Given the description of an element on the screen output the (x, y) to click on. 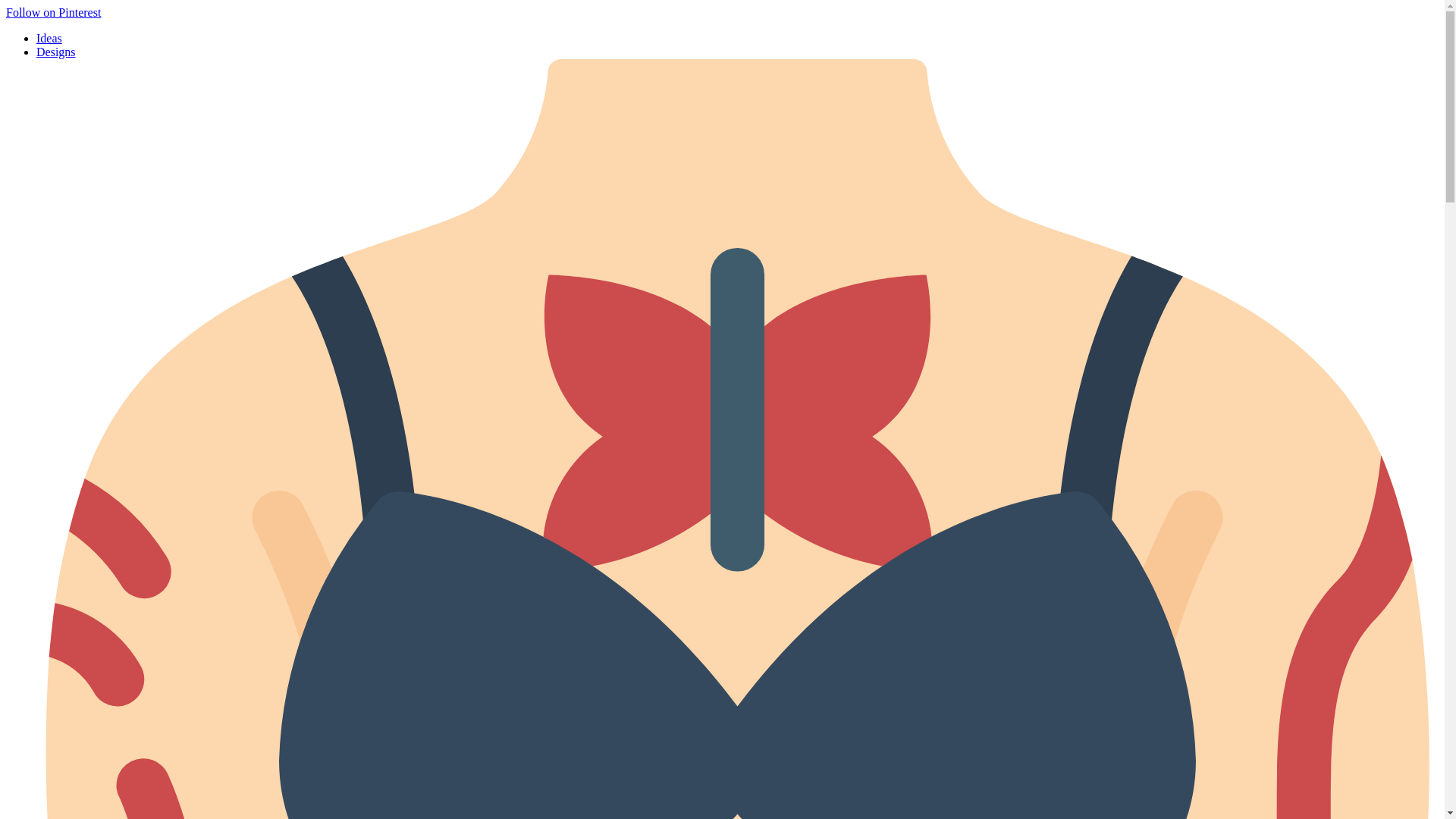
Ideas (49, 38)
Follow on Pinterest (52, 11)
Designs (55, 51)
